Given the description of an element on the screen output the (x, y) to click on. 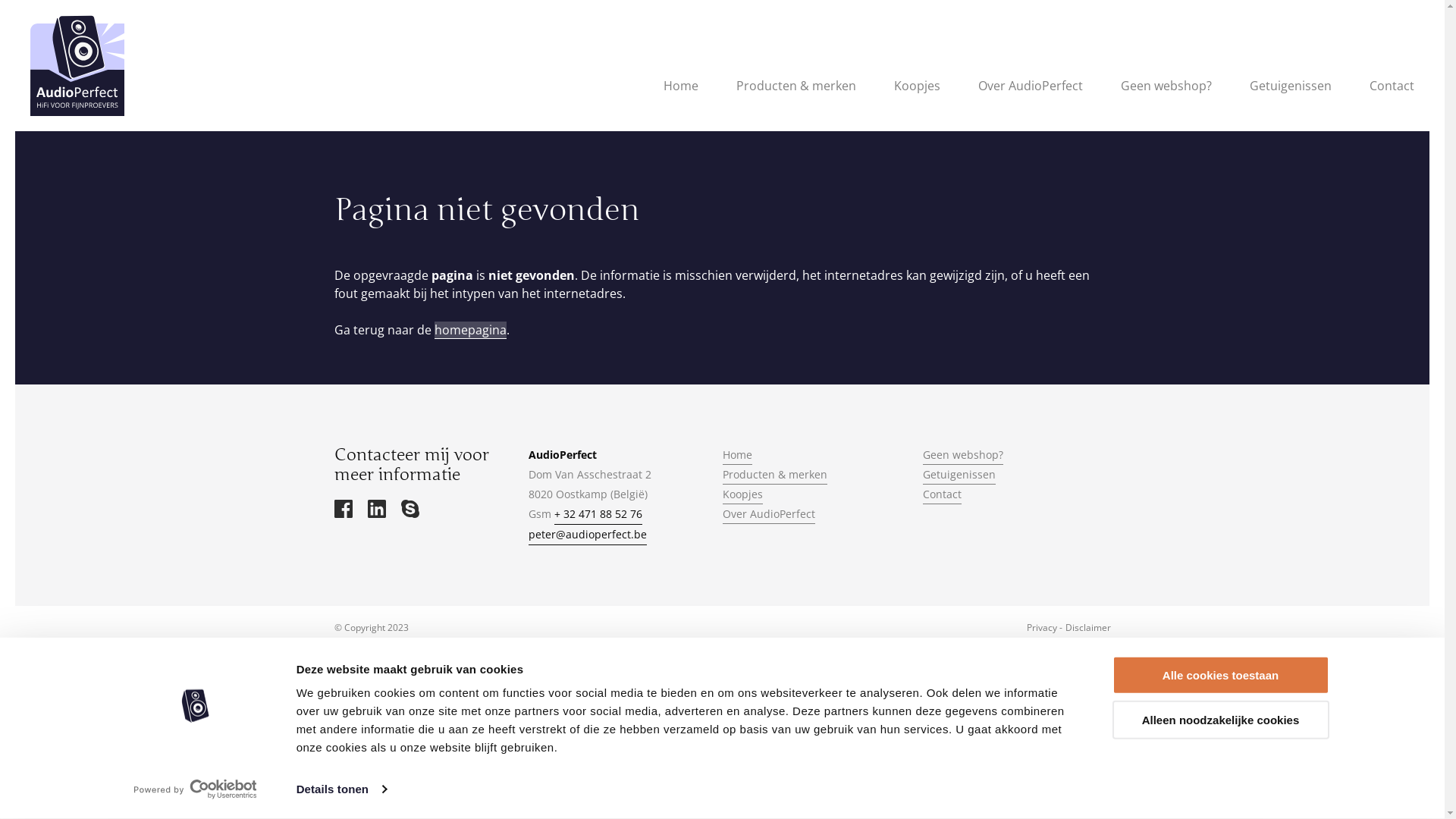
Privacy Element type: text (1041, 627)
Producten & merken Element type: text (773, 474)
Producten & merken Element type: text (796, 92)
Getuigenissen Element type: text (958, 474)
Contact Element type: text (941, 494)
Getuigenissen Element type: text (1290, 92)
Geen webshop? Element type: text (962, 454)
Home Element type: hover (77, 65)
Alleen noodzakelijke cookies Element type: text (1219, 719)
Koopjes Element type: text (917, 92)
+ 32 471 88 52 76 Element type: text (597, 514)
Disclaimer Element type: text (1087, 627)
via Skype Element type: text (409, 510)
Over AudioPerfect Element type: text (767, 514)
Koopjes Element type: text (741, 494)
homepagina Element type: text (469, 329)
Details tonen Element type: text (341, 789)
via Facebook Element type: text (342, 510)
Home Element type: text (680, 92)
Over AudioPerfect Element type: text (1030, 92)
Geen webshop? Element type: text (1165, 92)
Alle cookies toestaan Element type: text (1219, 674)
Contact Element type: text (1391, 92)
via LinkedIn Element type: text (376, 510)
Home Element type: text (736, 454)
peter@audioperfect.be Element type: text (586, 534)
